Given the description of an element on the screen output the (x, y) to click on. 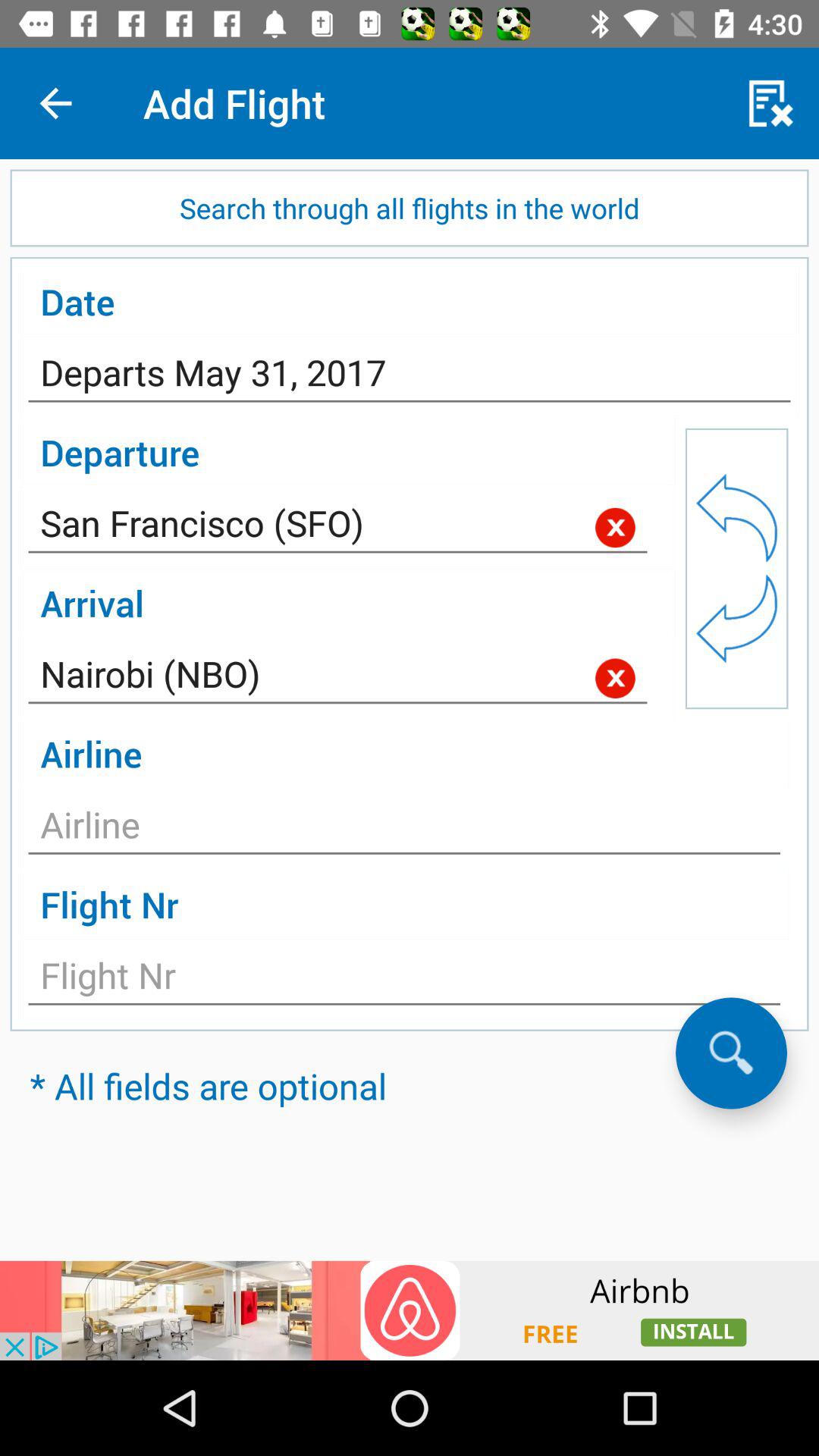
advertisement (409, 1310)
